Given the description of an element on the screen output the (x, y) to click on. 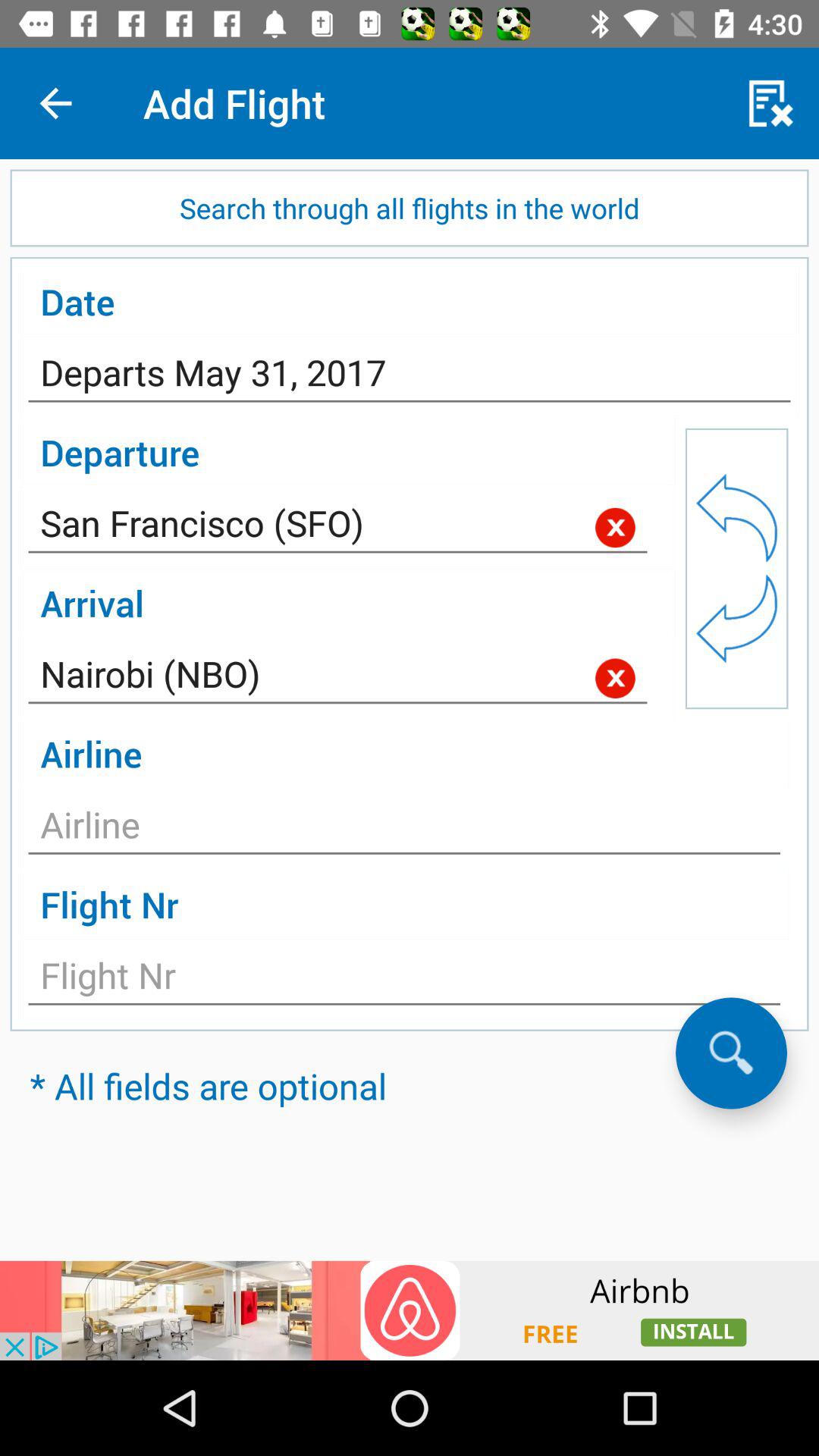
advertisement (409, 1310)
